Given the description of an element on the screen output the (x, y) to click on. 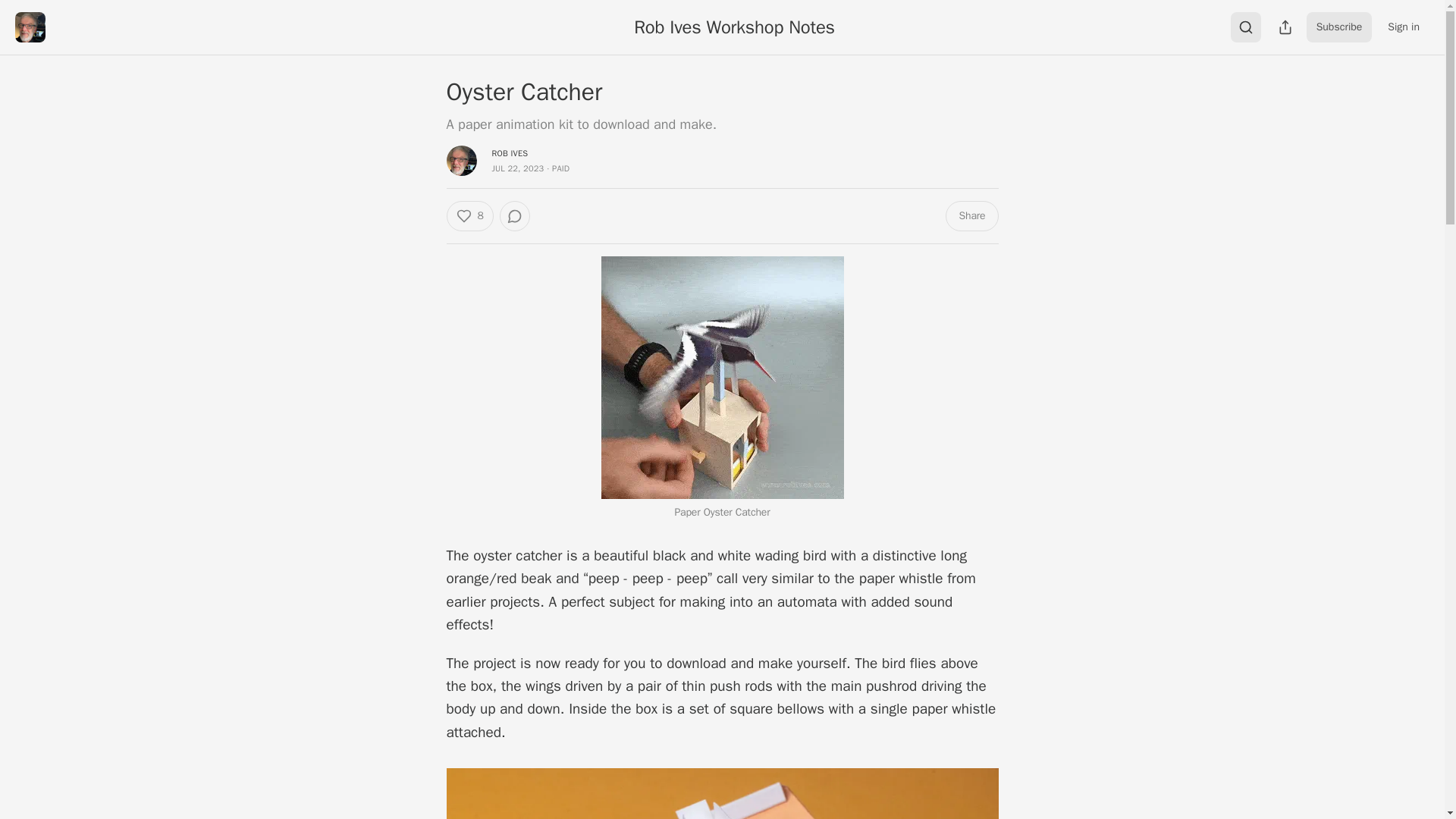
Share (970, 215)
Subscribe (1339, 27)
Sign in (1403, 27)
Rob Ives Workshop Notes (733, 26)
8 (469, 215)
ROB IVES (509, 153)
